Given the description of an element on the screen output the (x, y) to click on. 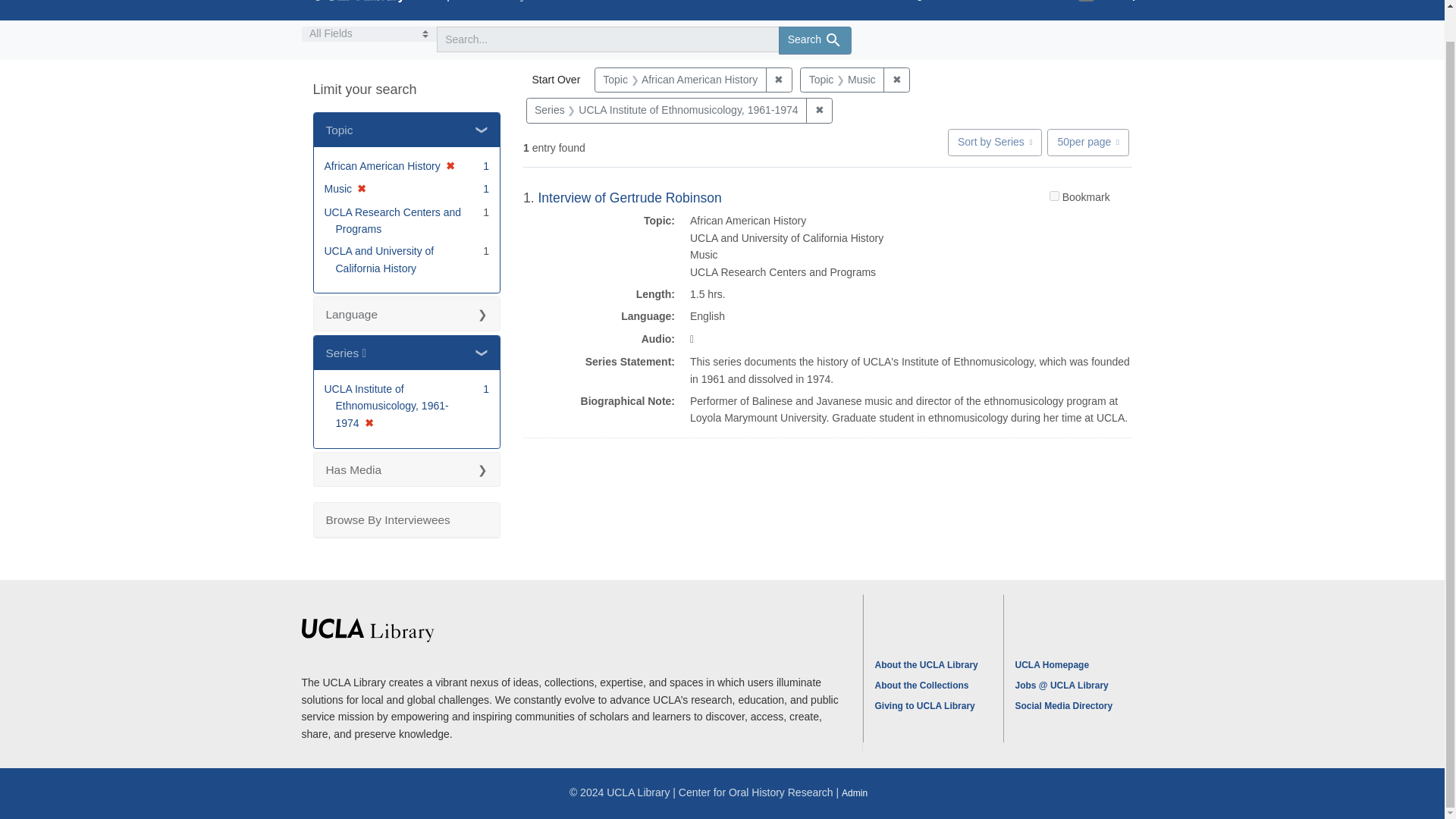
Has Media (407, 469)
Center for Oral History Research (438, 2)
Search Search (814, 40)
Targeted search options (368, 33)
African American History (699, 79)
Collections (866, 7)
Sort by Series (994, 141)
UCLA and University of California History (378, 258)
Browse By Interviewees (1059, 7)
Music (407, 519)
Resources (861, 79)
Series (985, 7)
Language (407, 352)
UCLA Institute of Ethnomusicology, 1961-1974 (407, 313)
